Given the description of an element on the screen output the (x, y) to click on. 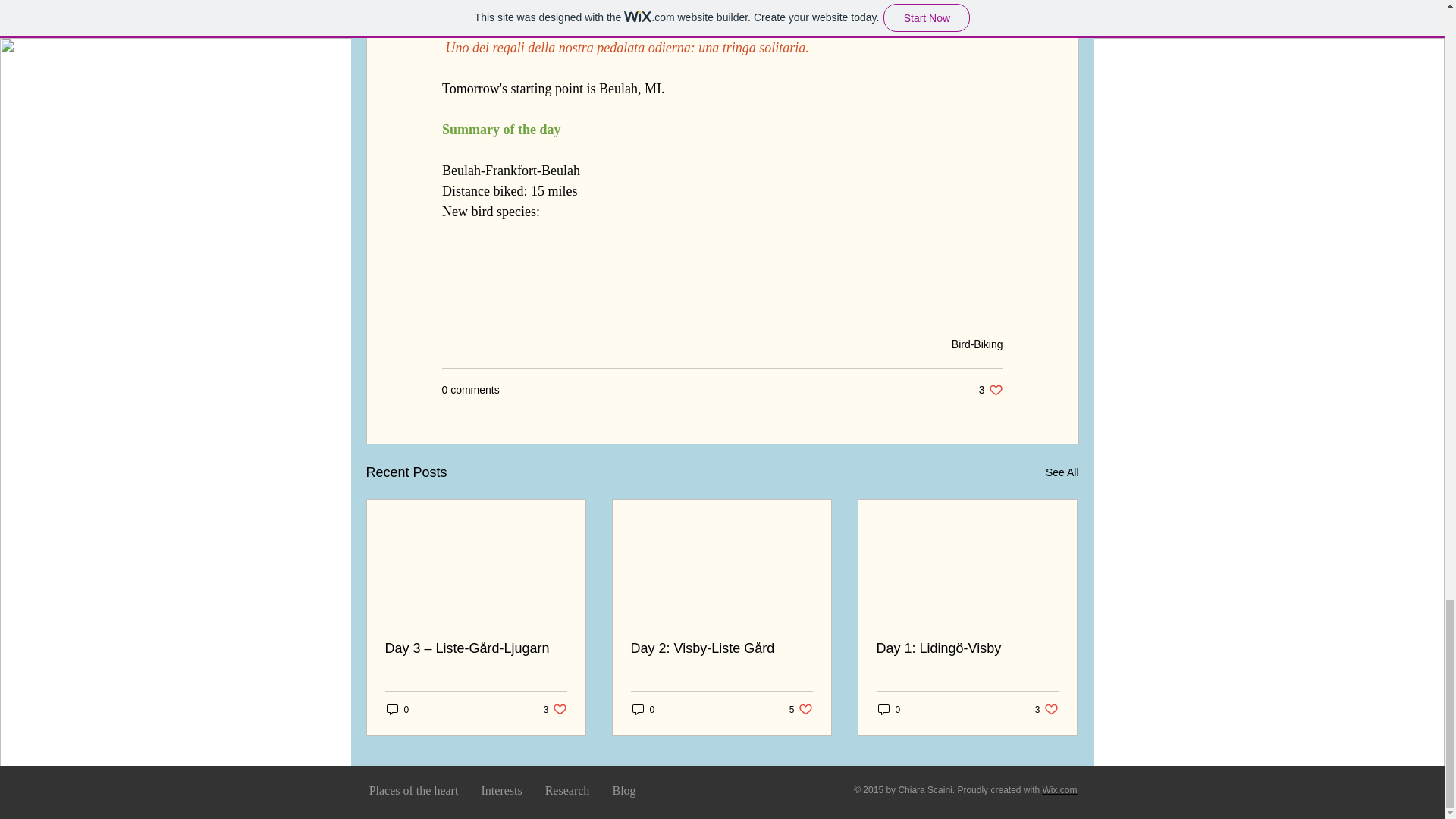
Wix.com (1059, 789)
See All (1061, 472)
Bird-Biking (977, 344)
Research (567, 790)
0 (990, 390)
Places of the heart (800, 708)
Interests (397, 708)
Blog (414, 790)
0 (1046, 708)
0 (555, 708)
